Given the description of an element on the screen output the (x, y) to click on. 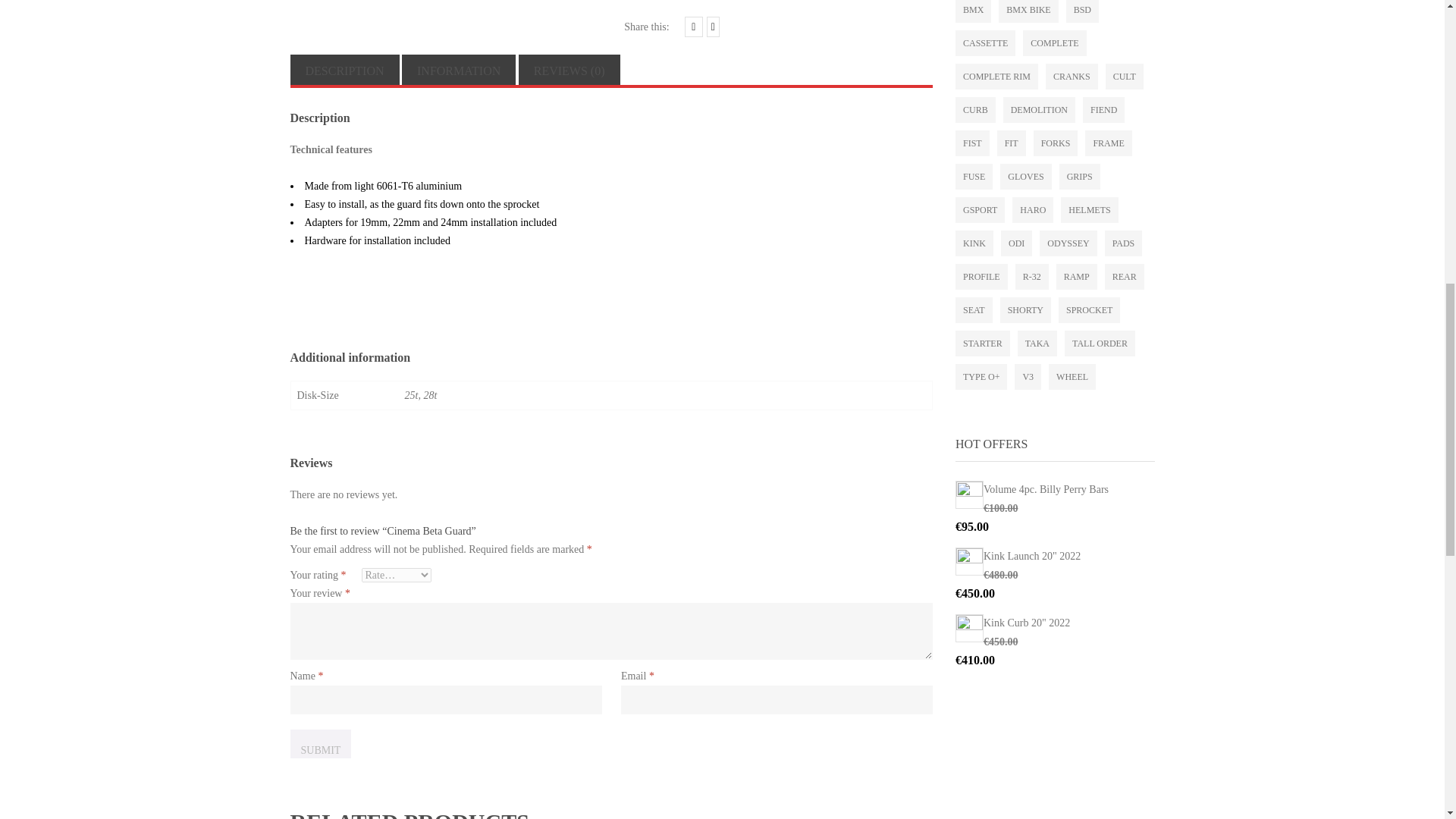
Submit (319, 743)
Volume 4pc. Billy Perry Bars (1054, 489)
Share this article on Facebook (693, 26)
Kink Curb 20" 2022 (1054, 623)
Kink Launch 20" 2022 (1054, 556)
